Given the description of an element on the screen output the (x, y) to click on. 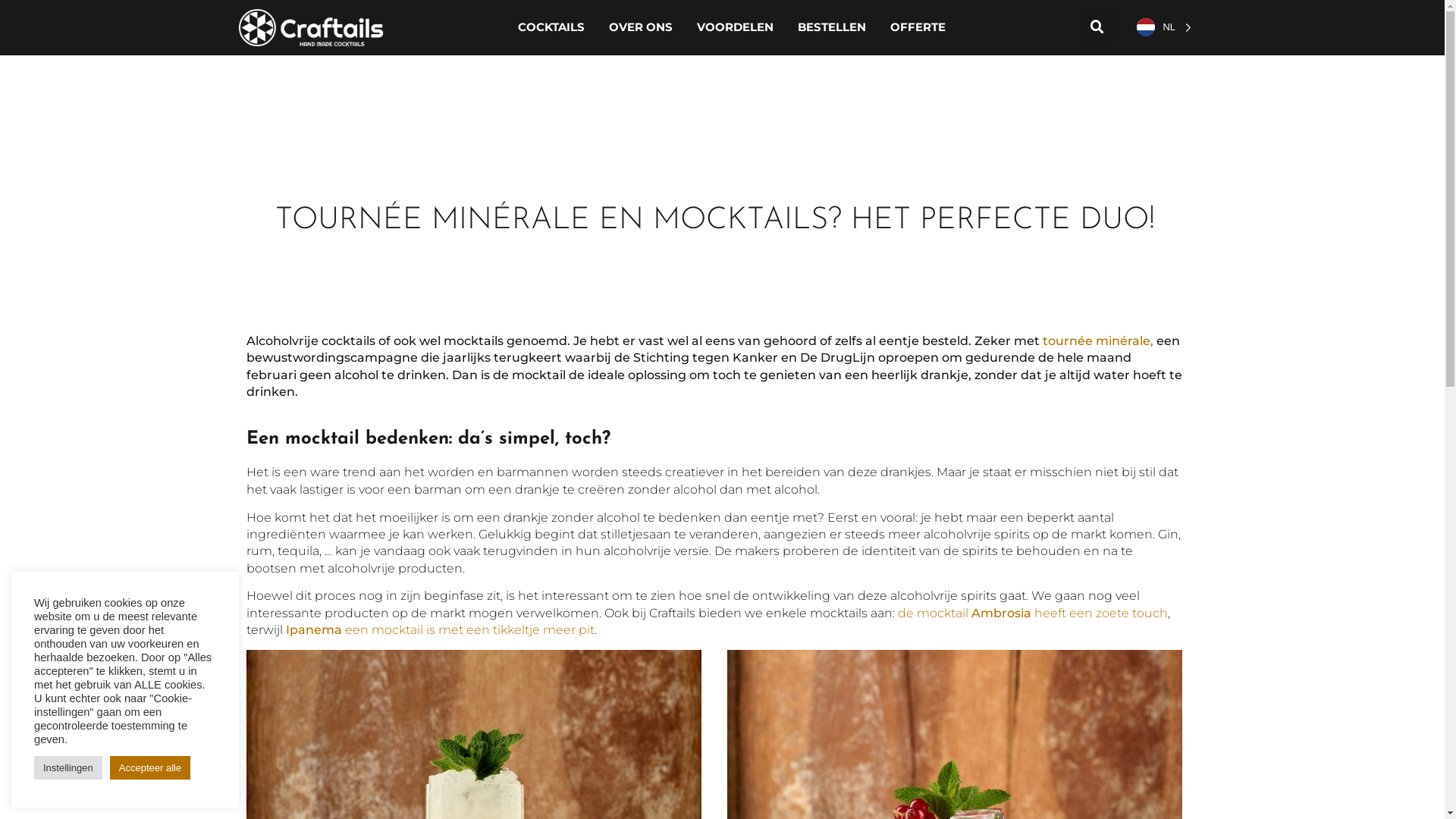
Instellingen Element type: text (68, 767)
OFFERTE Element type: text (917, 26)
OVER ONS Element type: text (640, 26)
VOORDELEN Element type: text (734, 26)
de mocktail Ambrosia heeft een zoete touch Element type: text (1032, 612)
Ipanema een mocktail is met een tikkeltje meer pit Element type: text (439, 629)
Accepteer alle Element type: text (149, 767)
BESTELLEN Element type: text (831, 26)
COCKTAILS Element type: text (550, 26)
